Given the description of an element on the screen output the (x, y) to click on. 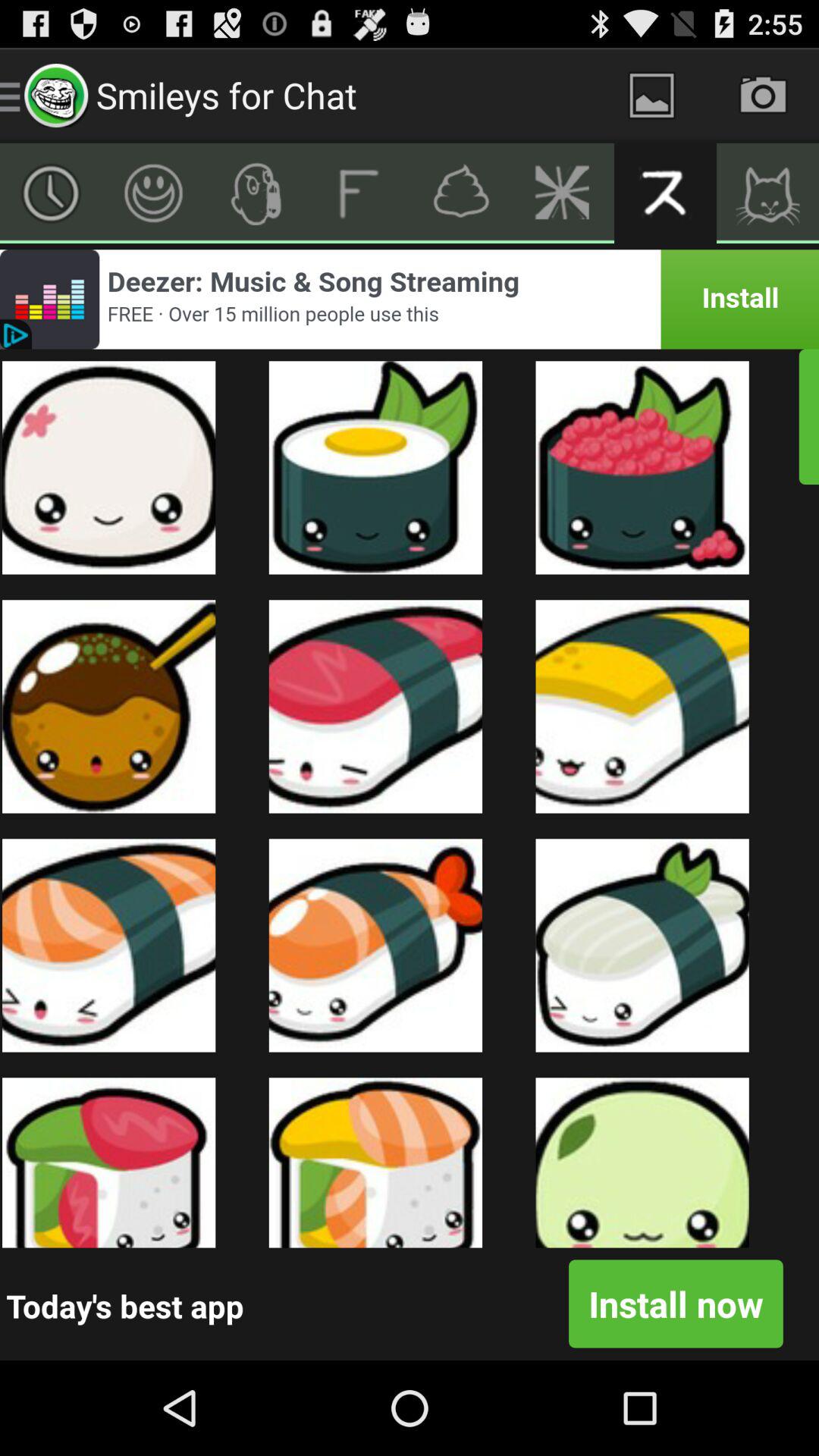
install app (409, 299)
